Given the description of an element on the screen output the (x, y) to click on. 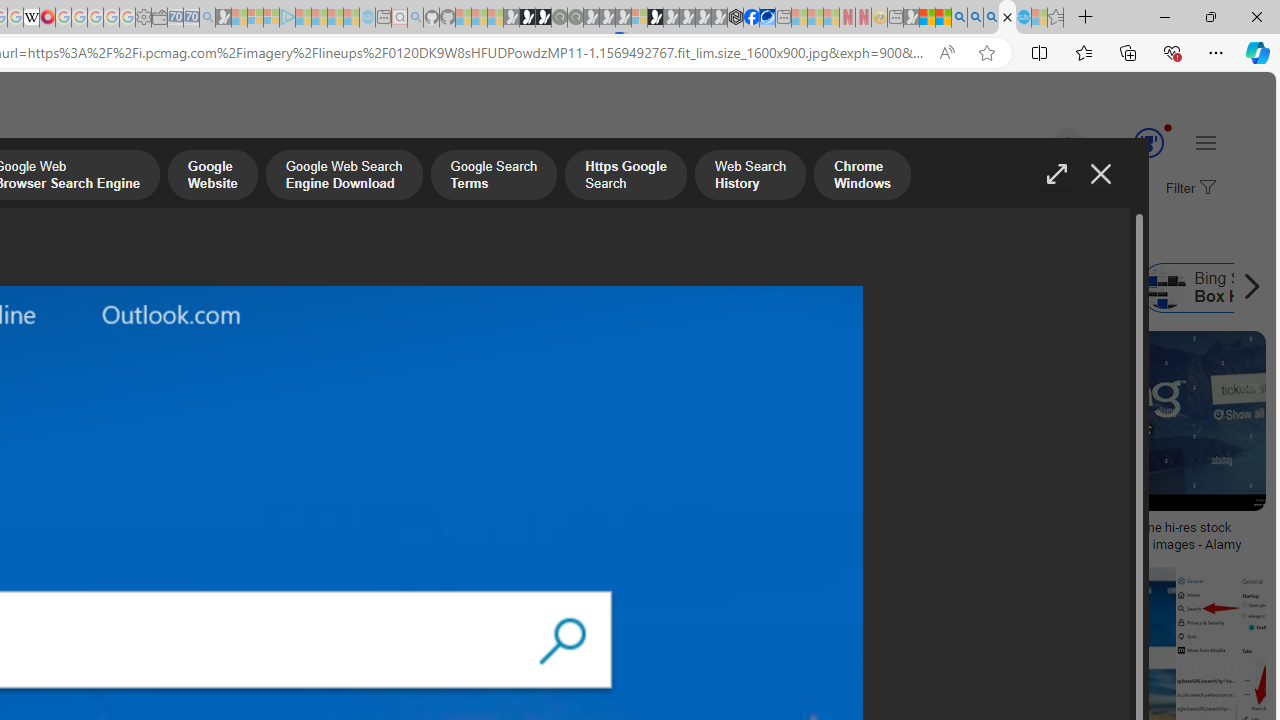
Filter (1188, 189)
Google Search Terms (493, 177)
Bing Mugs (132, 521)
MediaWiki (47, 17)
Https Google Search (625, 177)
Scroll right (1246, 287)
